Given the description of an element on the screen output the (x, y) to click on. 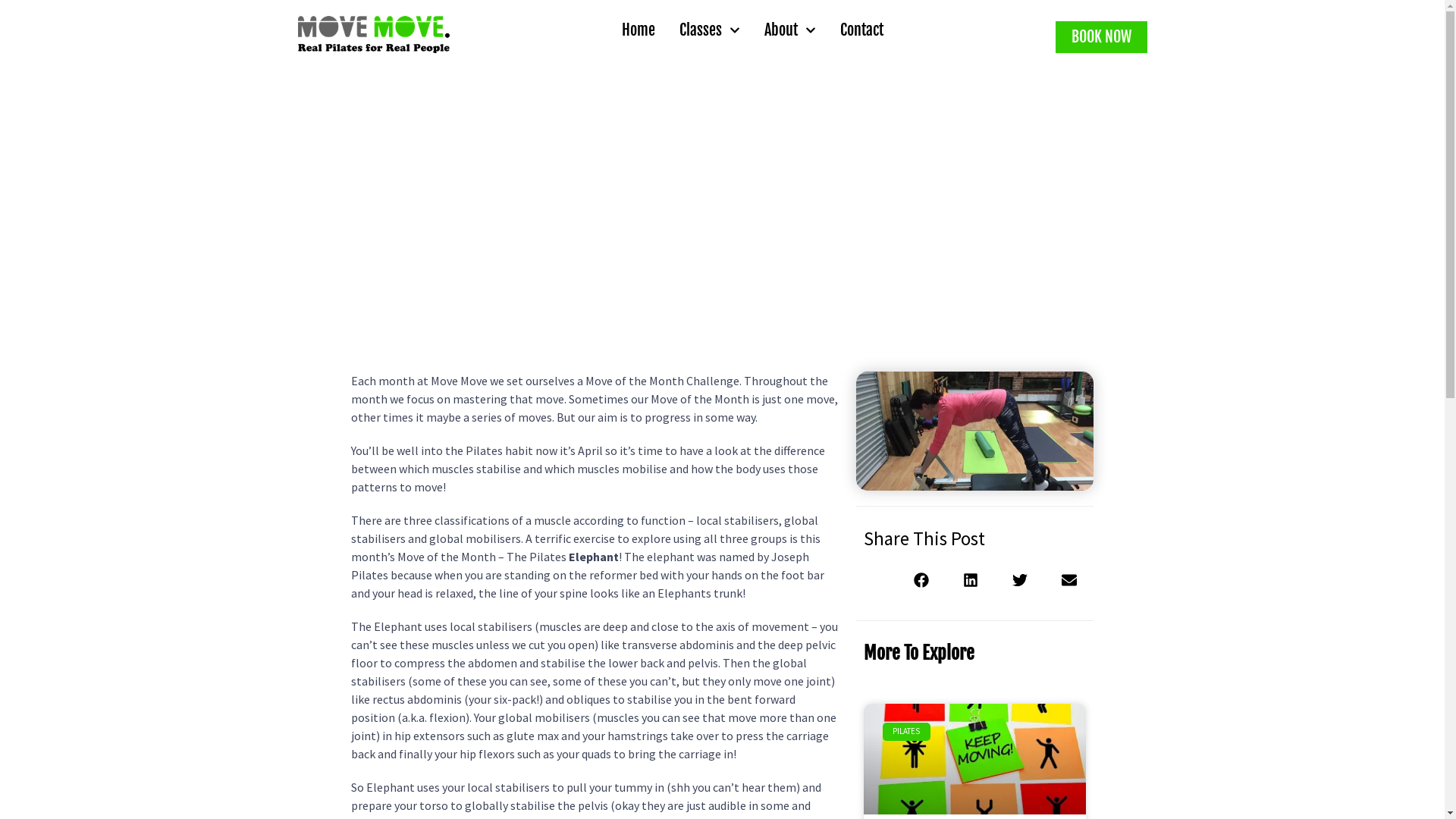
April 6, 2017 Element type: text (750, 269)
Home Element type: text (637, 30)
About Element type: text (789, 30)
Lou Element type: text (671, 269)
Classes Element type: text (708, 30)
BOOK NOW Element type: text (1101, 37)
Contact Element type: text (861, 30)
